Given the description of an element on the screen output the (x, y) to click on. 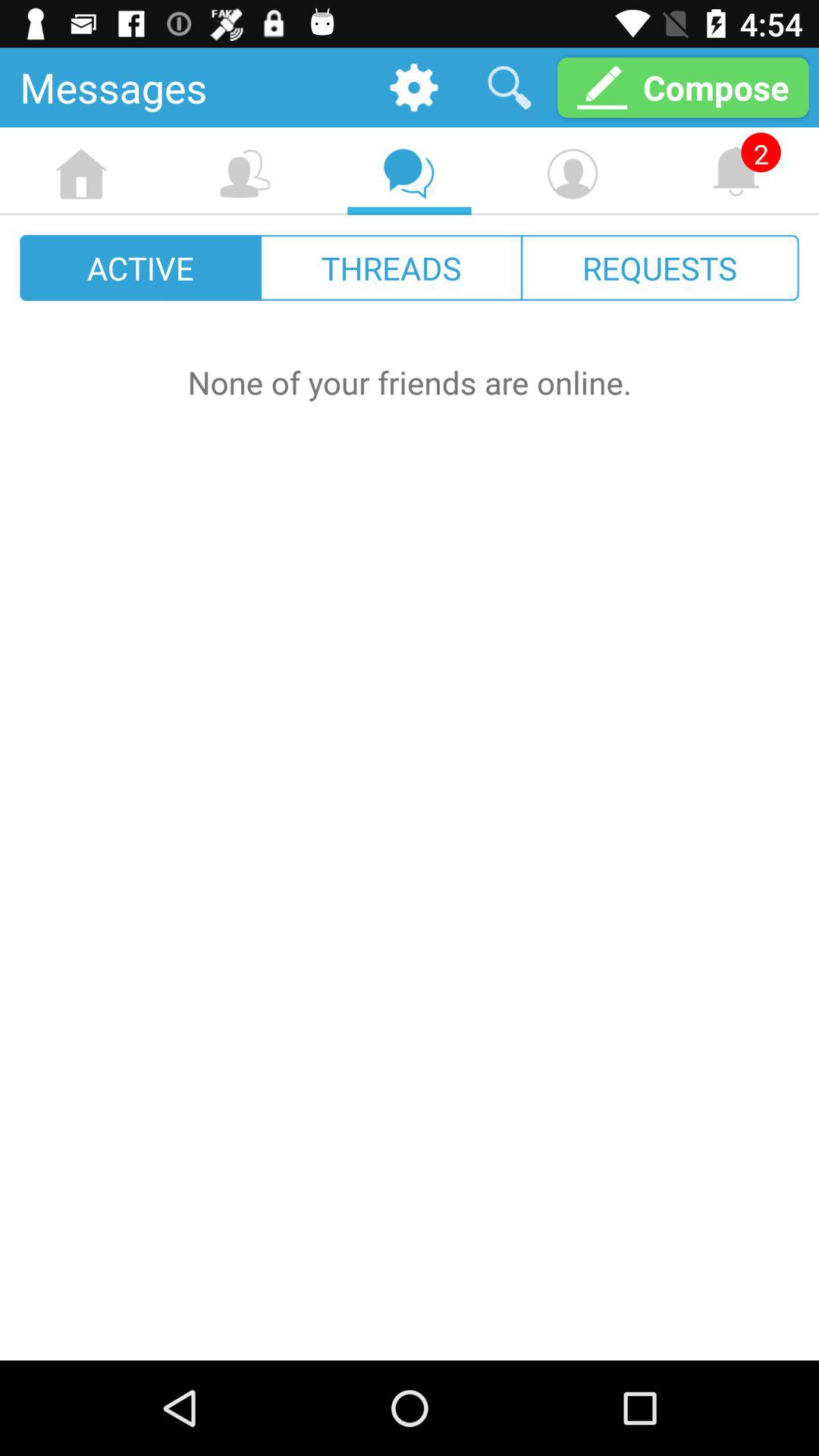
scroll until active icon (140, 267)
